Given the description of an element on the screen output the (x, y) to click on. 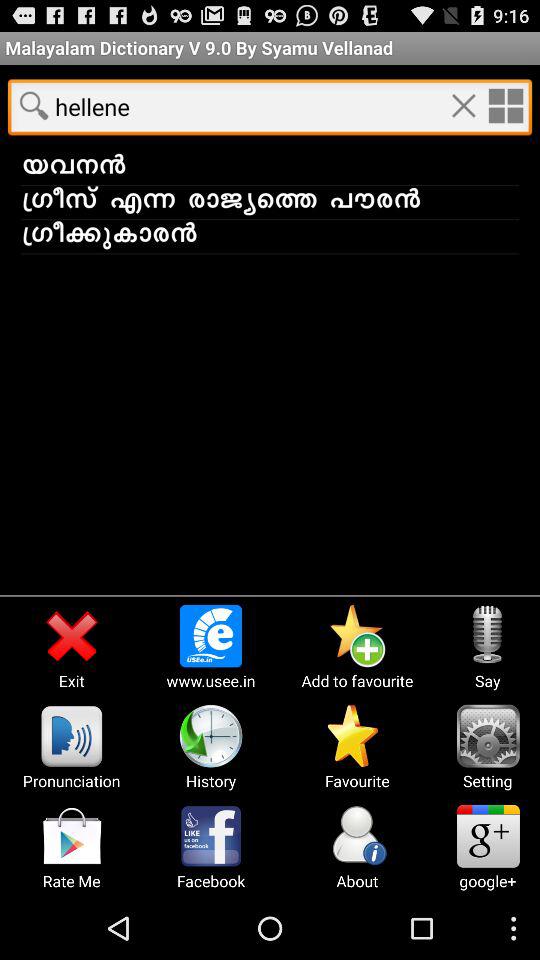
go to cancel (463, 105)
